Given the description of an element on the screen output the (x, y) to click on. 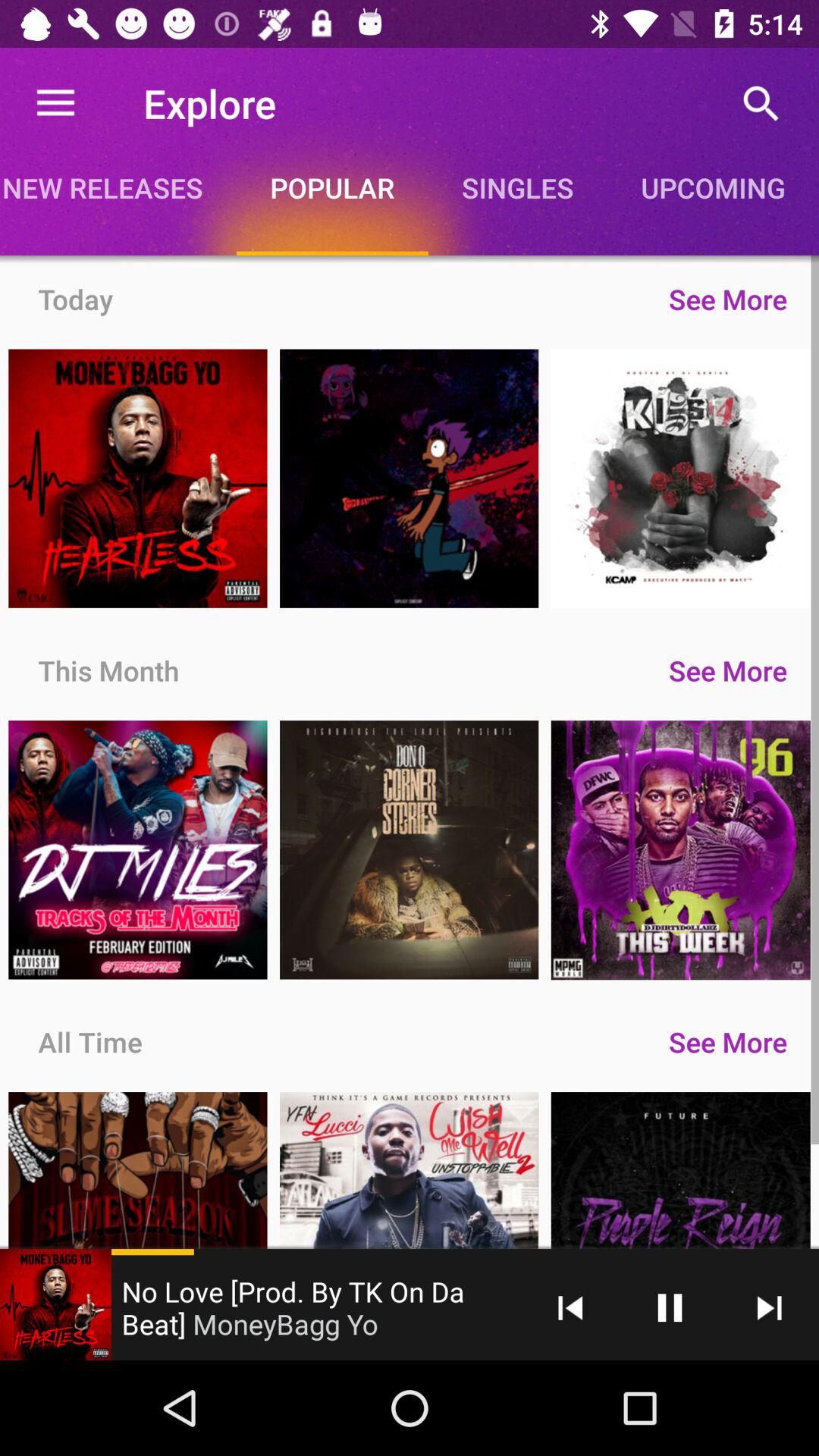
turn off the item to the left of the singles icon (332, 187)
